Given the description of an element on the screen output the (x, y) to click on. 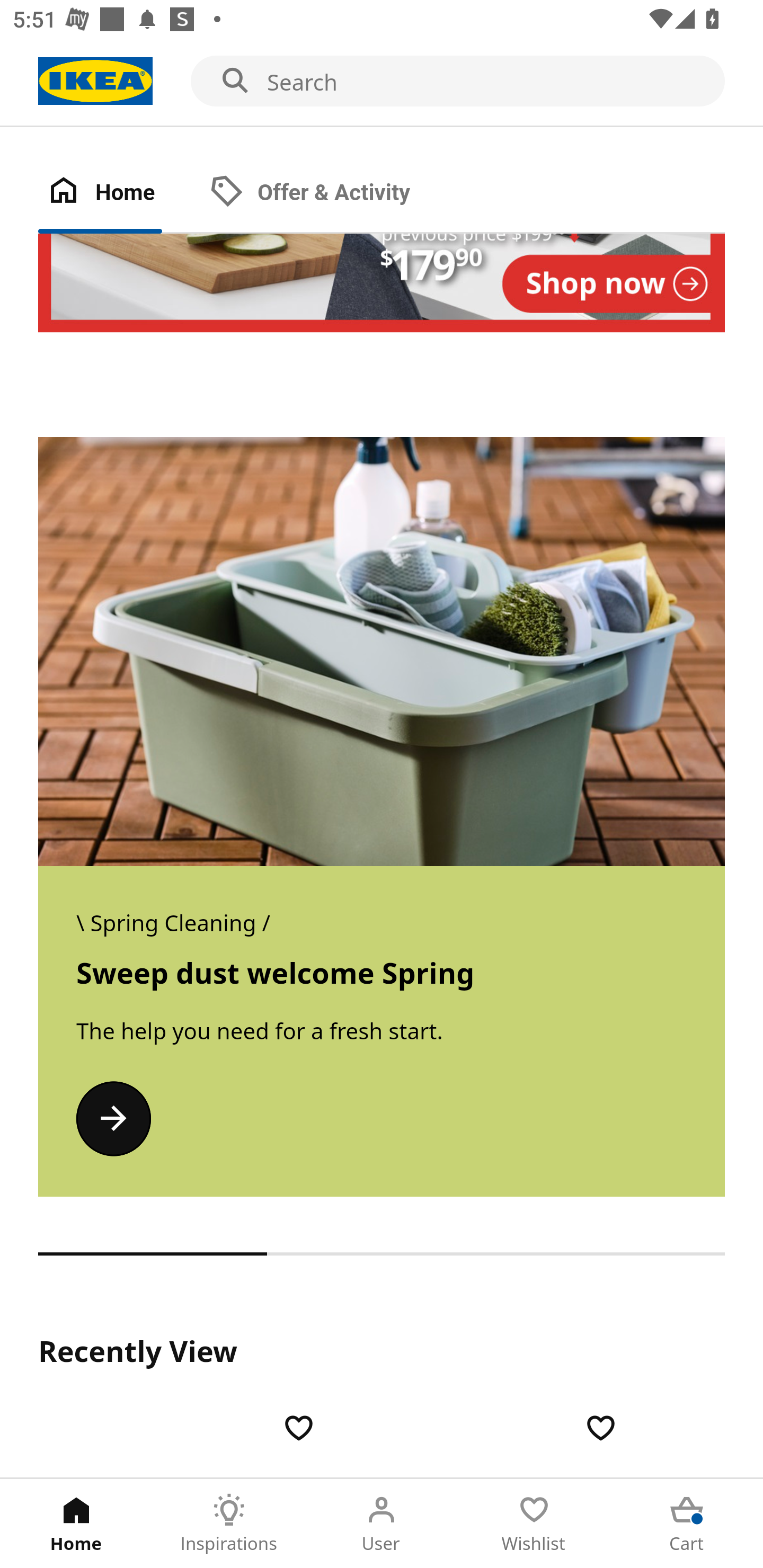
Search (381, 81)
Home
Tab 1 of 2 (118, 192)
Offer & Activity
Tab 2 of 2 (327, 192)
Home
Tab 1 of 5 (76, 1522)
Inspirations
Tab 2 of 5 (228, 1522)
User
Tab 3 of 5 (381, 1522)
Wishlist
Tab 4 of 5 (533, 1522)
Cart
Tab 5 of 5 (686, 1522)
